Given the description of an element on the screen output the (x, y) to click on. 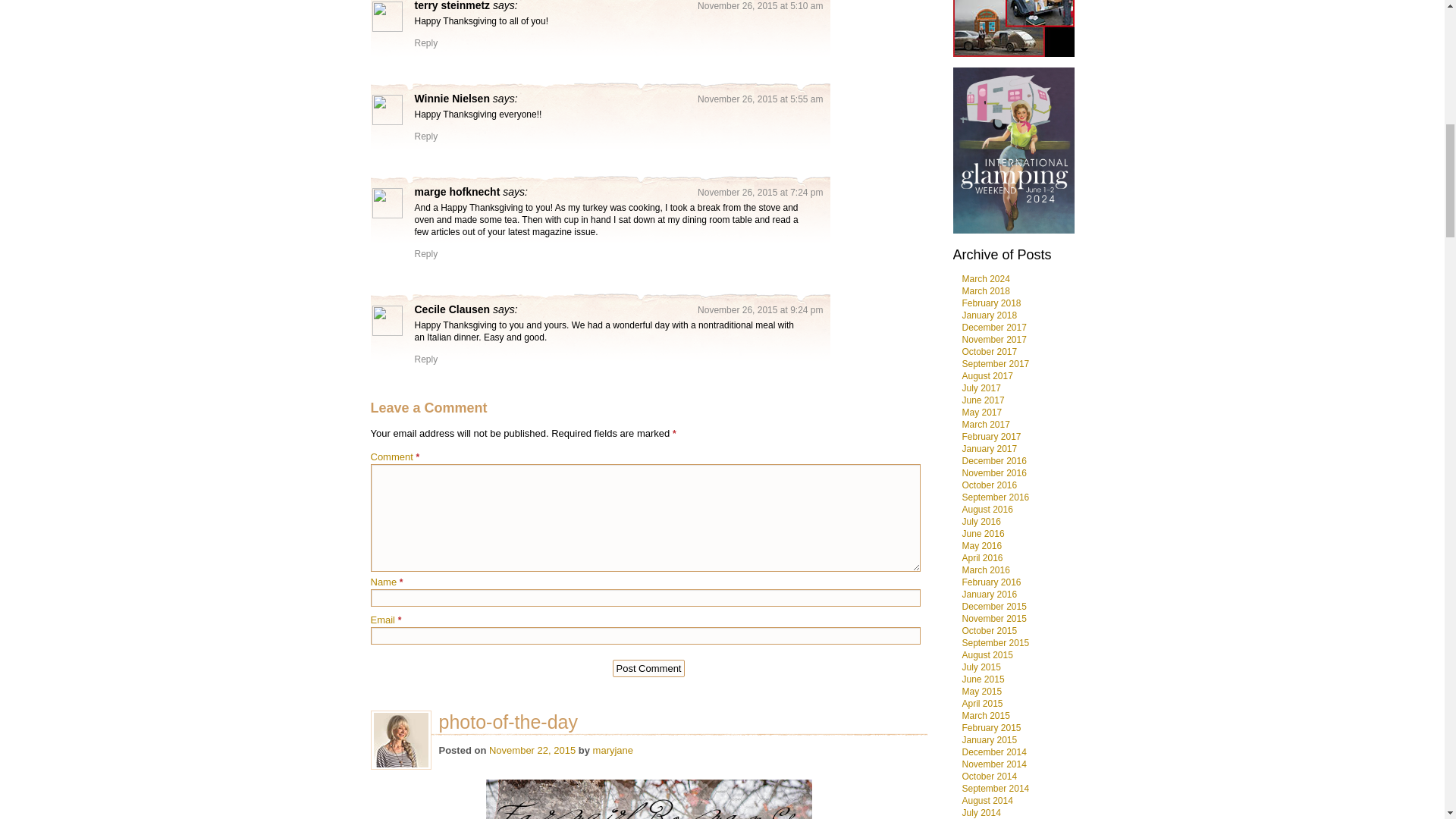
photo-of-the-day (678, 721)
November 26, 2015 at 7:24 pm (759, 192)
12:10 am (532, 749)
November 26, 2015 at 9:24 pm (759, 309)
Reply (425, 253)
Reply (425, 42)
Post Comment (648, 668)
Reply (425, 358)
November 26, 2015 at 5:10 am (759, 5)
Reply (425, 136)
maryjane (612, 749)
November 22, 2015 (532, 749)
View all posts by maryjane (612, 749)
November 26, 2015 at 5:55 am (759, 99)
Post Comment (648, 668)
